Given the description of an element on the screen output the (x, y) to click on. 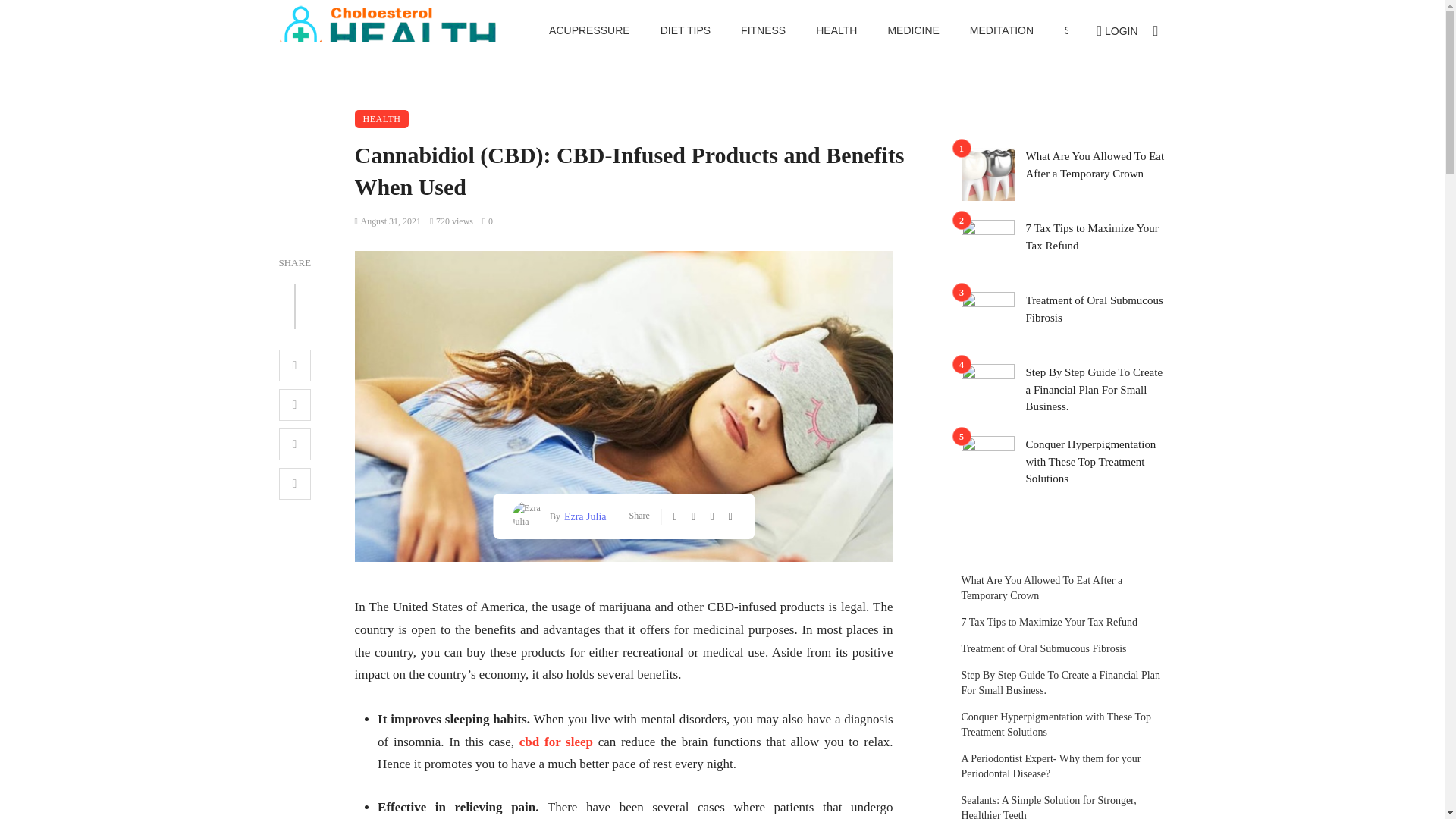
MEDICINE (912, 30)
DIET TIPS (685, 30)
Share on Linkedin (295, 483)
Share on Twitter (295, 404)
cbd for sleep (555, 741)
Share on Pinterest (295, 444)
Share on Pinterest (713, 515)
HEALTH (836, 30)
Share on Twitter (694, 515)
Share on Facebook (675, 515)
Share on Facebook (295, 365)
Share on Linkedin (732, 515)
Ezra Julia (583, 515)
August 31, 2021 at 12:32 pm (388, 221)
MEDITATION (1001, 30)
